Given the description of an element on the screen output the (x, y) to click on. 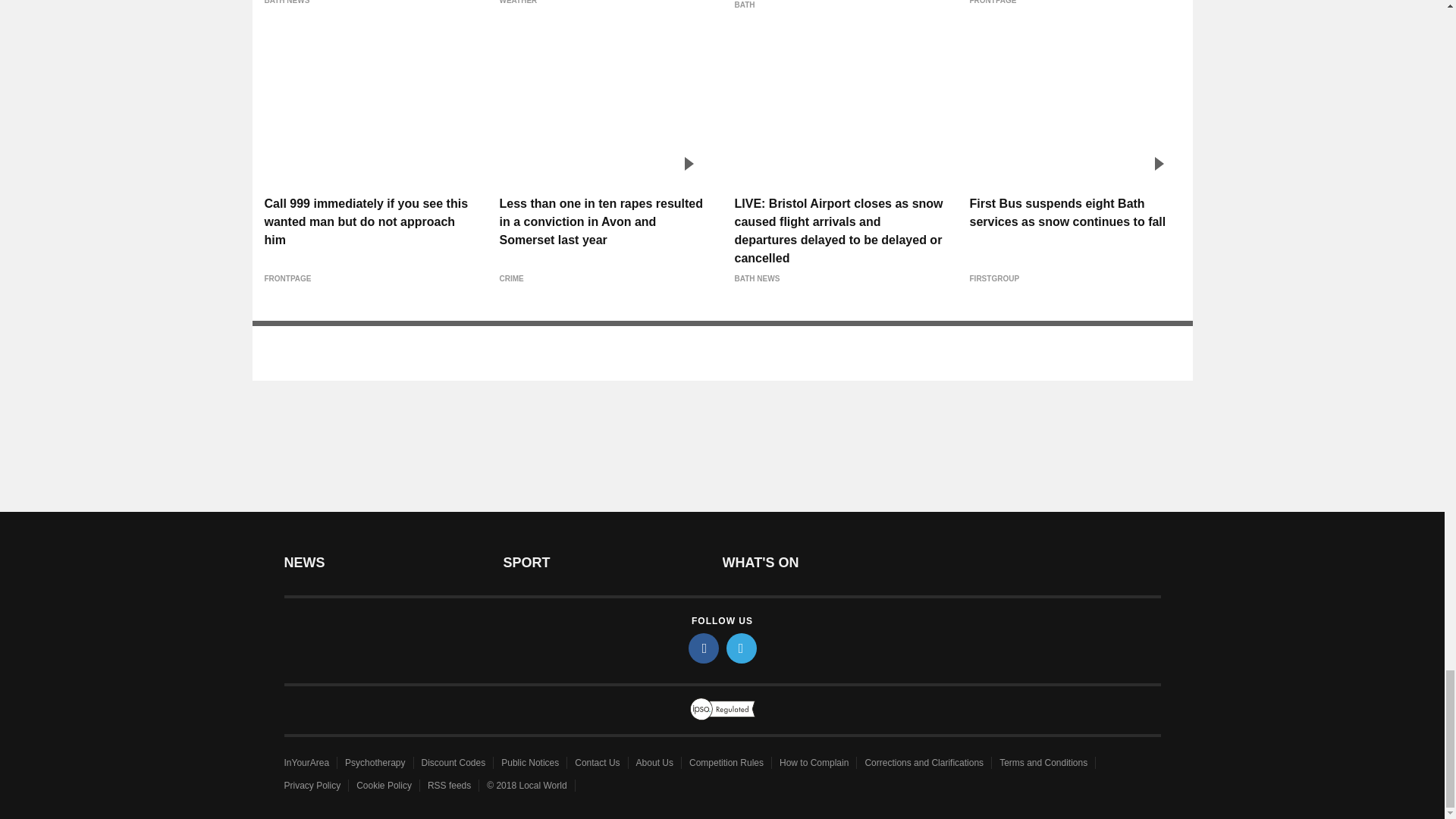
facebook (703, 648)
twitter (741, 648)
